Given the description of an element on the screen output the (x, y) to click on. 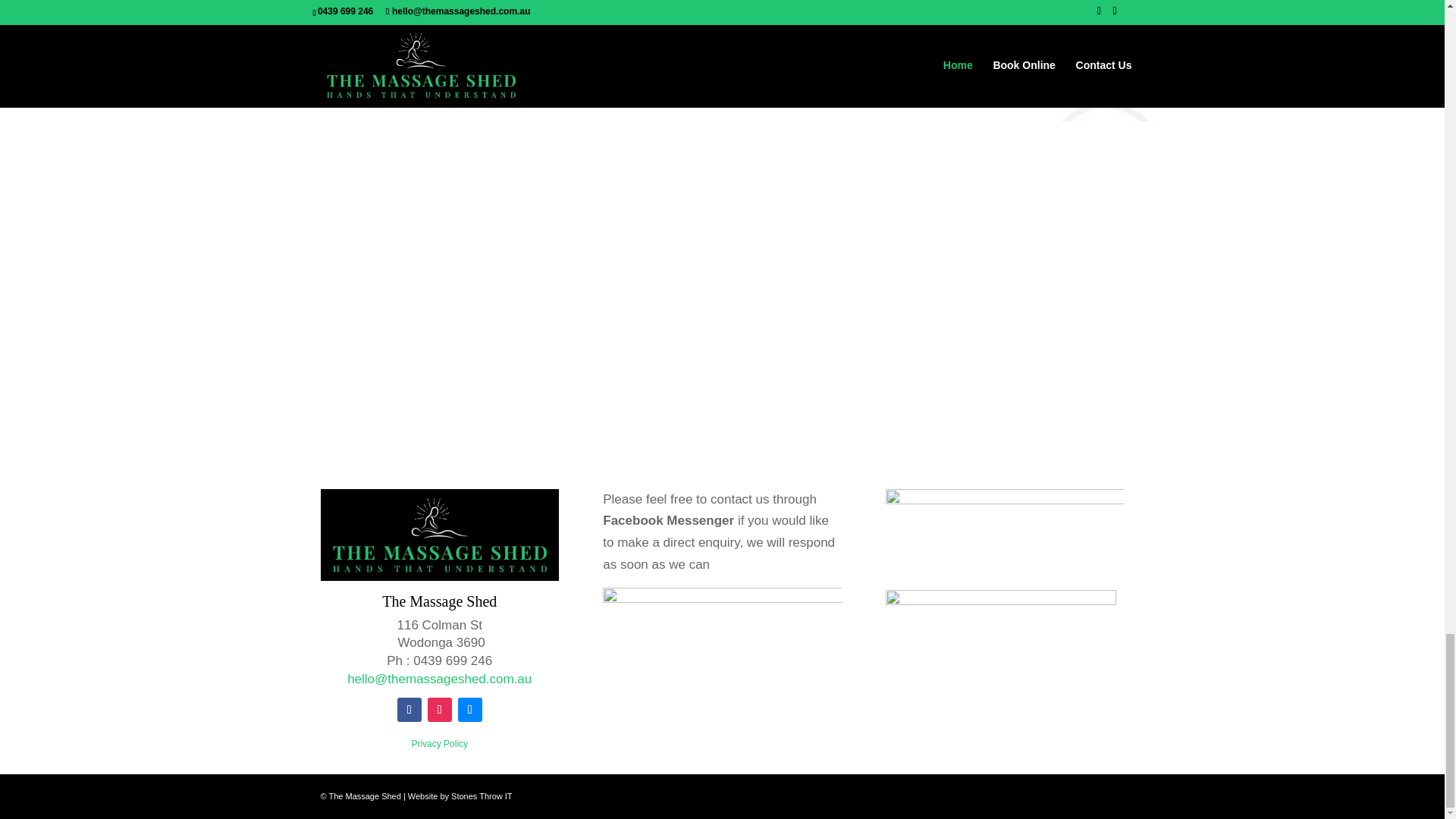
instagram4 (1000, 627)
Book an Appointment (408, 64)
Follow on Facebook Messenger (469, 709)
Privacy Policy (438, 743)
Stones Throw IT (481, 795)
facebook-messenger-logo (721, 662)
transparent facebook logo970 (1004, 528)
Follow on Facebook (409, 709)
Follow on Instagram (439, 709)
Wodonga Remedial Massage (934, 3)
